Given the description of an element on the screen output the (x, y) to click on. 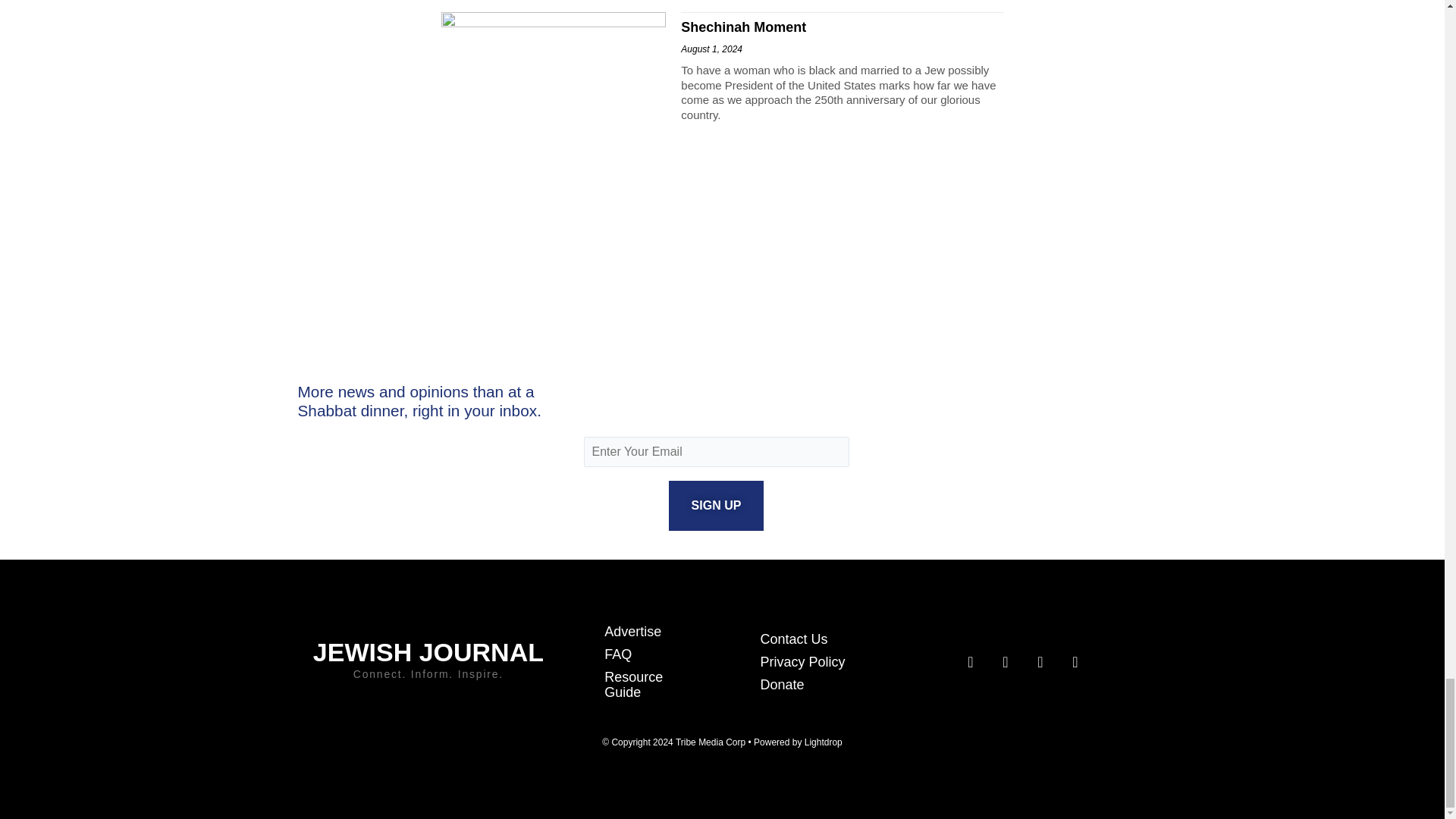
Sign Up (715, 505)
